Given the description of an element on the screen output the (x, y) to click on. 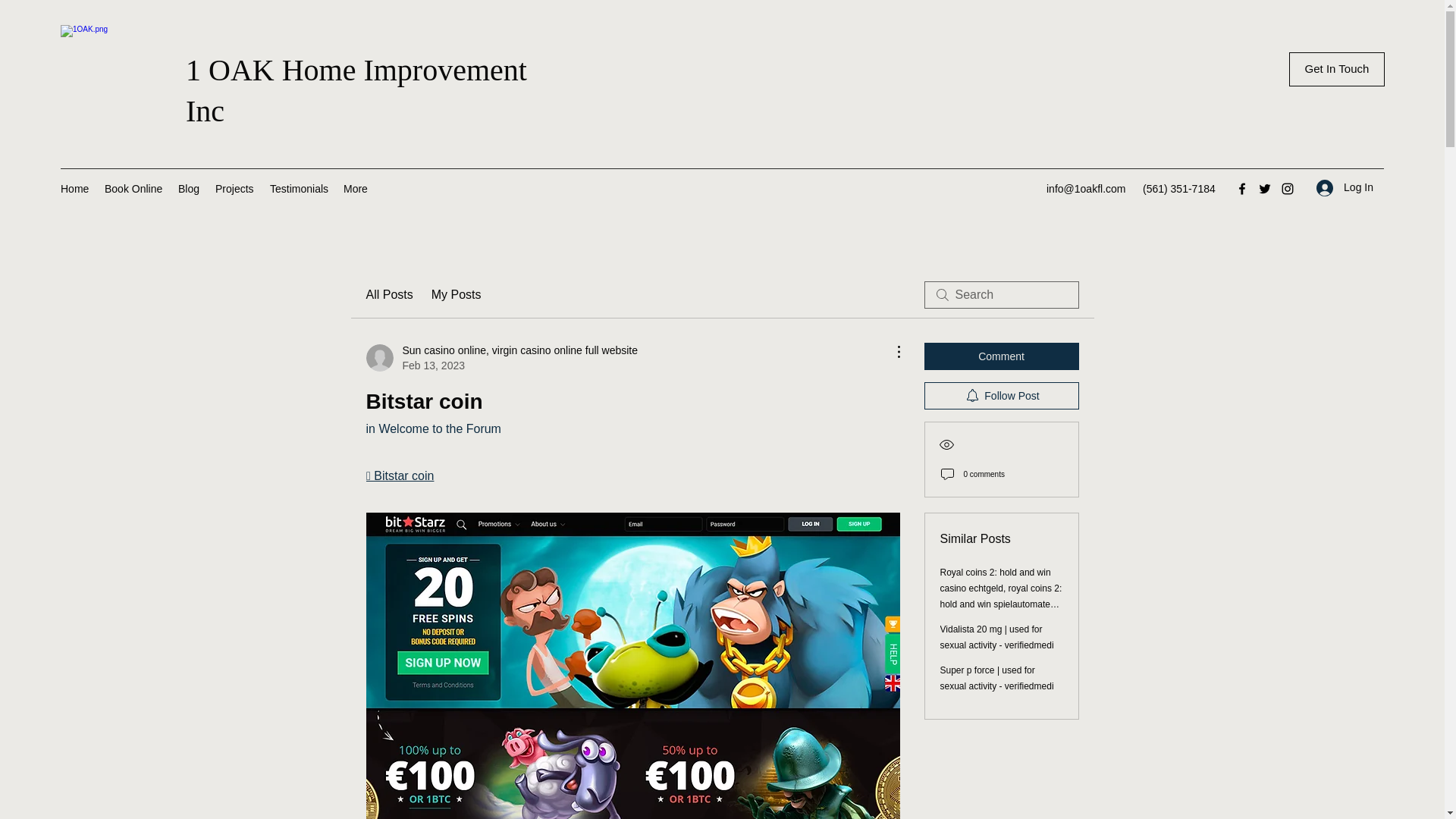
in Welcome to the Forum (432, 428)
Comment (1000, 356)
Book Online (133, 188)
All Posts (388, 294)
My Posts (455, 294)
Projects (235, 188)
1 OAK Home Improvement Inc (356, 90)
Home (74, 188)
Testimonials (299, 188)
